Given the description of an element on the screen output the (x, y) to click on. 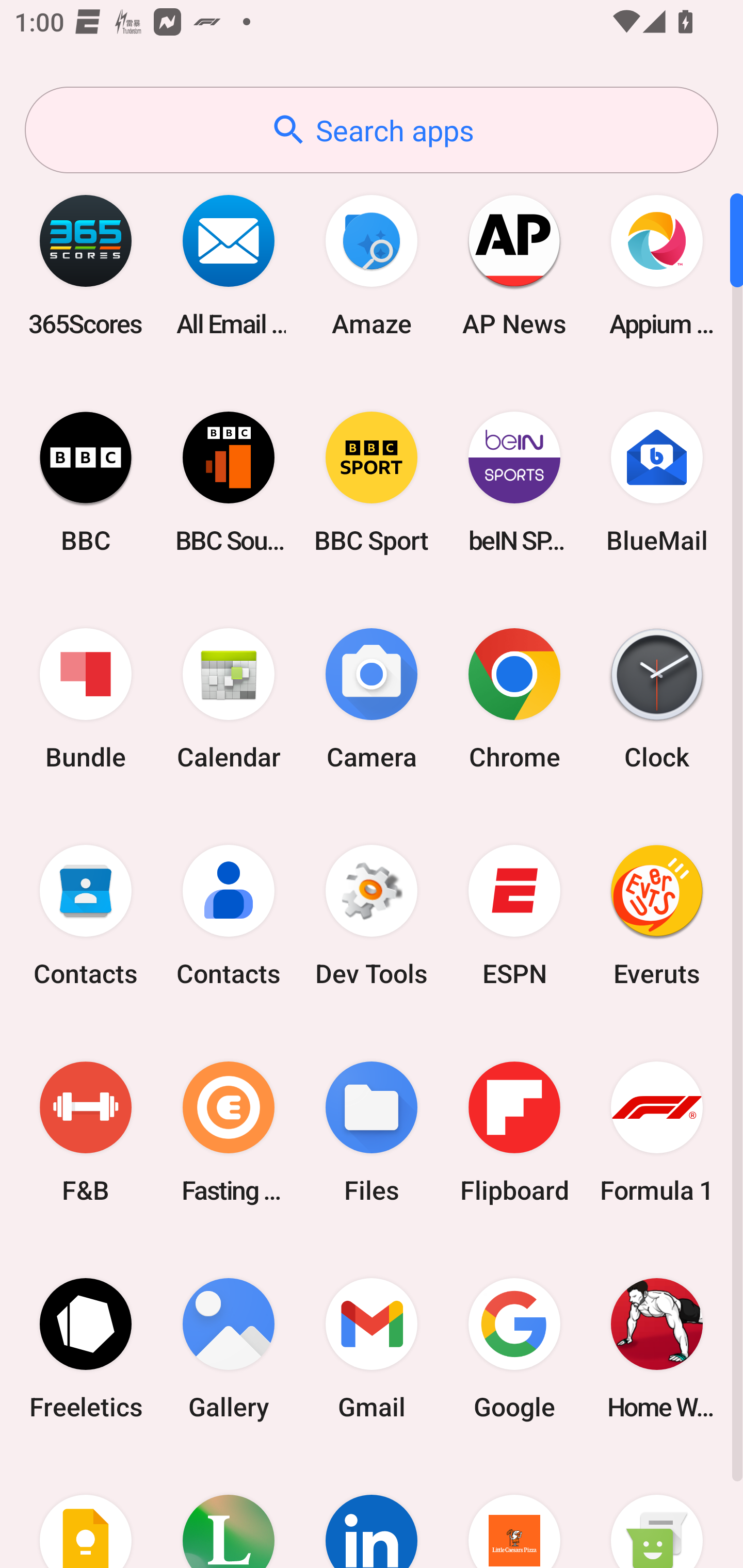
  Search apps (371, 130)
365Scores (85, 264)
All Email Connect (228, 264)
Amaze (371, 264)
AP News (514, 264)
Appium Settings (656, 264)
BBC (85, 482)
BBC Sounds (228, 482)
BBC Sport (371, 482)
beIN SPORTS (514, 482)
BlueMail (656, 482)
Bundle (85, 699)
Calendar (228, 699)
Camera (371, 699)
Chrome (514, 699)
Clock (656, 699)
Contacts (85, 915)
Contacts (228, 915)
Dev Tools (371, 915)
ESPN (514, 915)
Everuts (656, 915)
F&B (85, 1131)
Fasting Coach (228, 1131)
Files (371, 1131)
Flipboard (514, 1131)
Formula 1 (656, 1131)
Freeletics (85, 1348)
Gallery (228, 1348)
Gmail (371, 1348)
Google (514, 1348)
Home Workout (656, 1348)
